Given the description of an element on the screen output the (x, y) to click on. 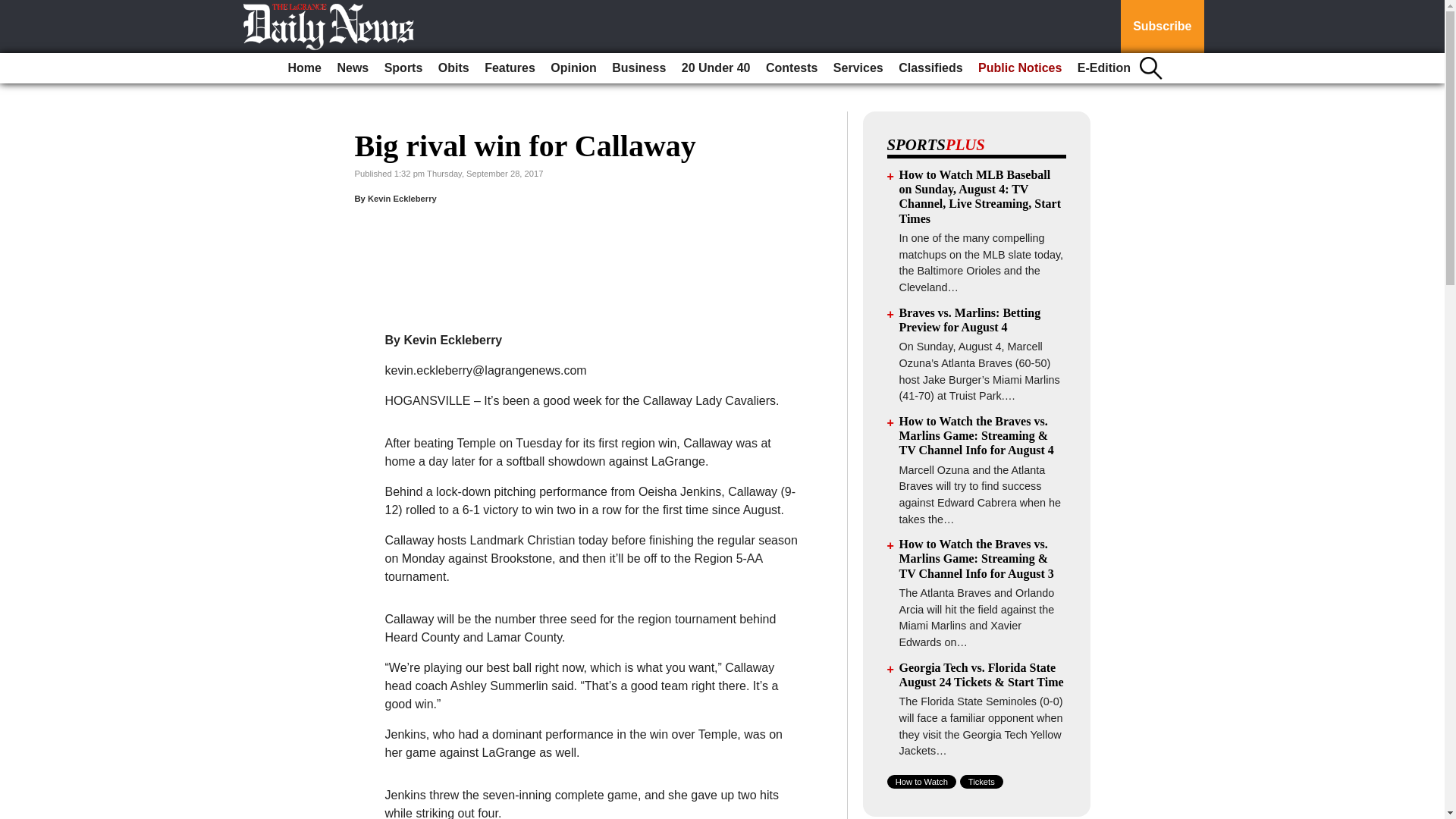
Subscribe (1162, 26)
20 Under 40 (716, 68)
Sports (403, 68)
How to Watch (921, 781)
Home (304, 68)
Business (638, 68)
Public Notices (1019, 68)
Kevin Eckleberry (402, 198)
Features (510, 68)
Braves vs. Marlins: Betting Preview for August 4 (970, 319)
